Given the description of an element on the screen output the (x, y) to click on. 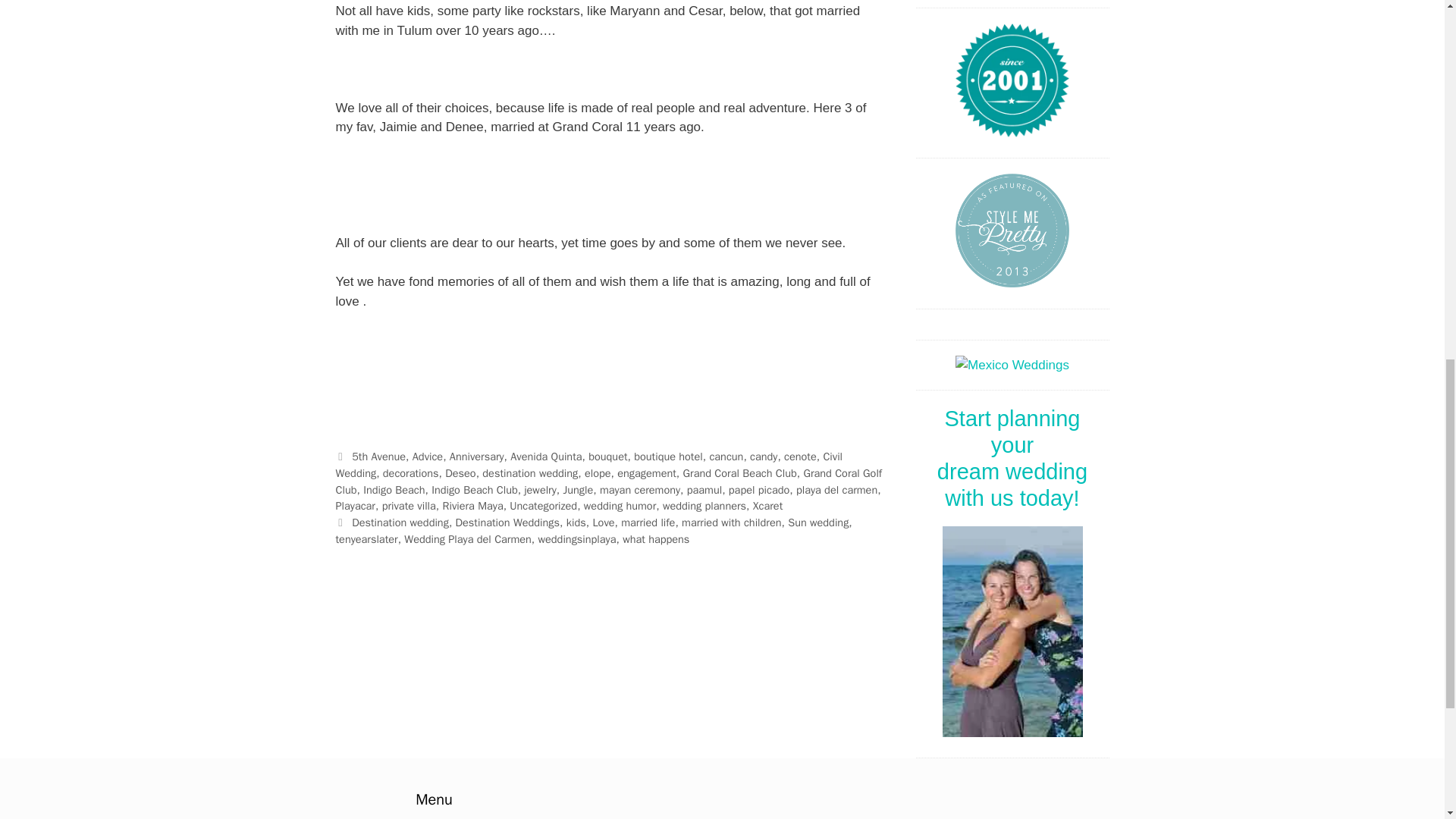
wedding planners (703, 505)
cancun (725, 456)
Grand Coral Beach Club (739, 472)
elope (598, 472)
Jungle (577, 489)
jewelry (540, 489)
Playacar (354, 505)
Grand Coral Golf Club (608, 481)
As Seen on Style Me Pretty (1011, 230)
cenote (800, 456)
